Given the description of an element on the screen output the (x, y) to click on. 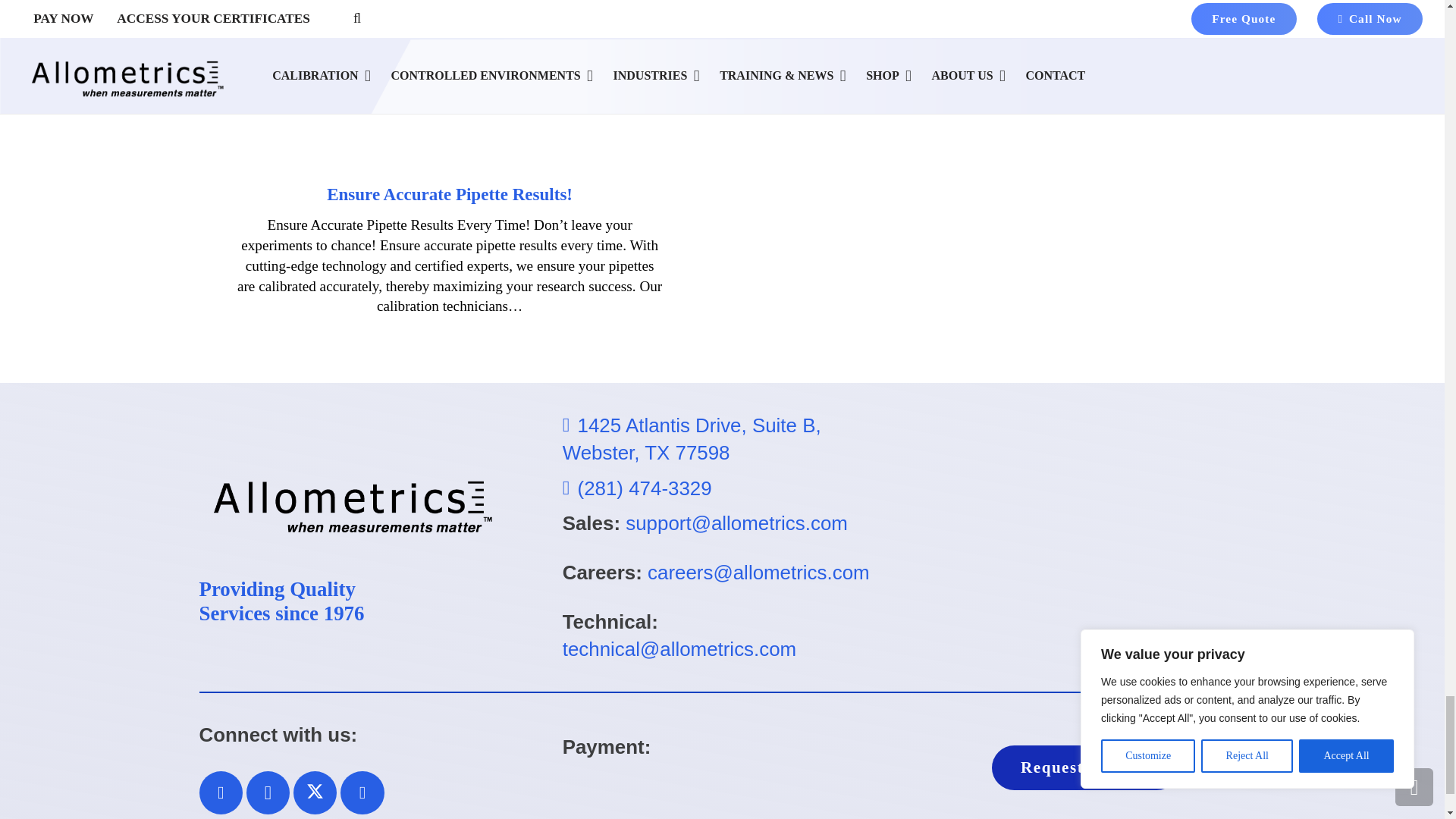
Facebook (220, 792)
Accreditation Certificate (1086, 537)
Instagram (267, 792)
LinkedIn (362, 792)
Twitter (315, 792)
